Given the description of an element on the screen output the (x, y) to click on. 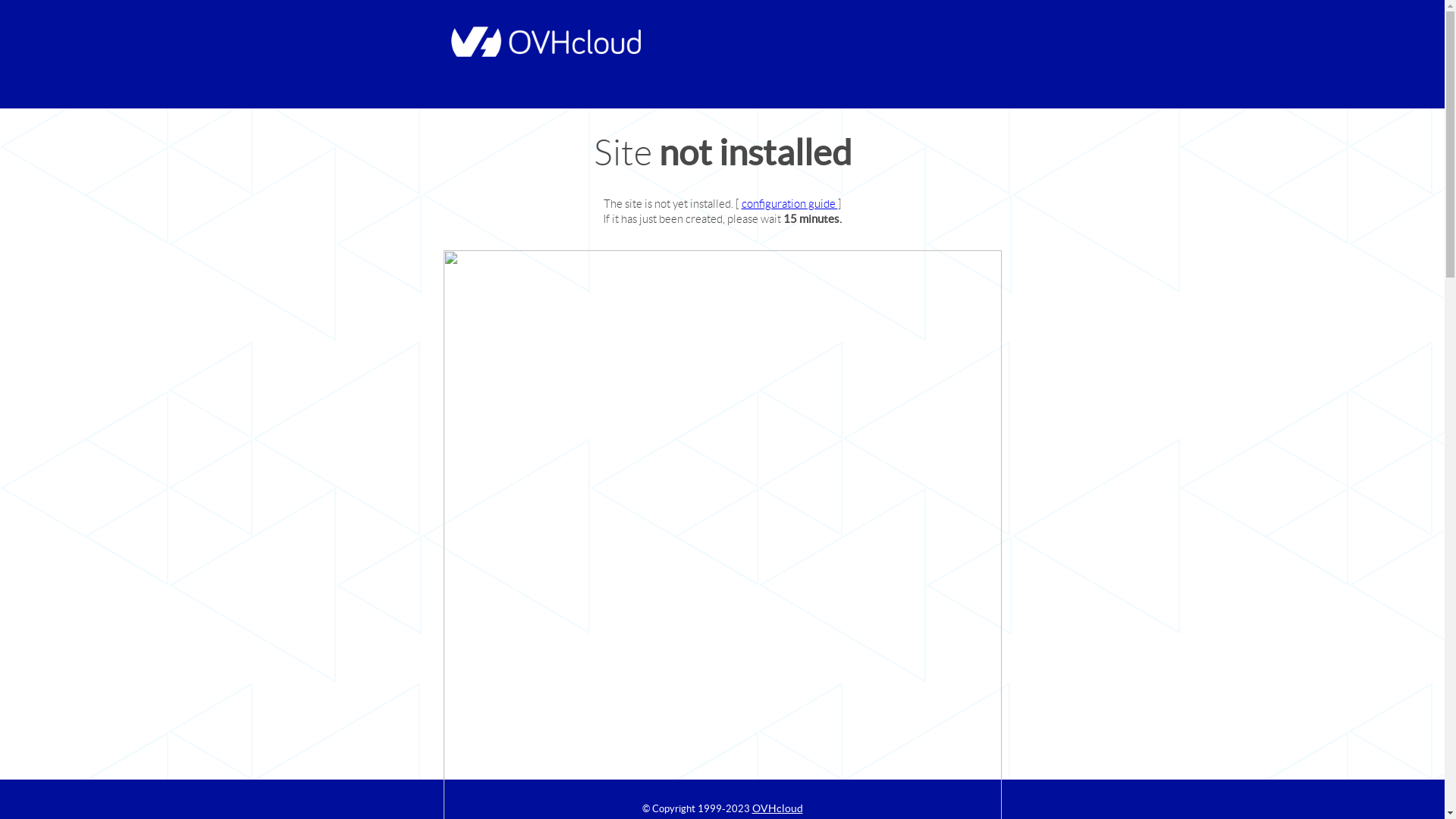
OVHcloud Element type: text (777, 808)
configuration guide Element type: text (789, 203)
